Given the description of an element on the screen output the (x, y) to click on. 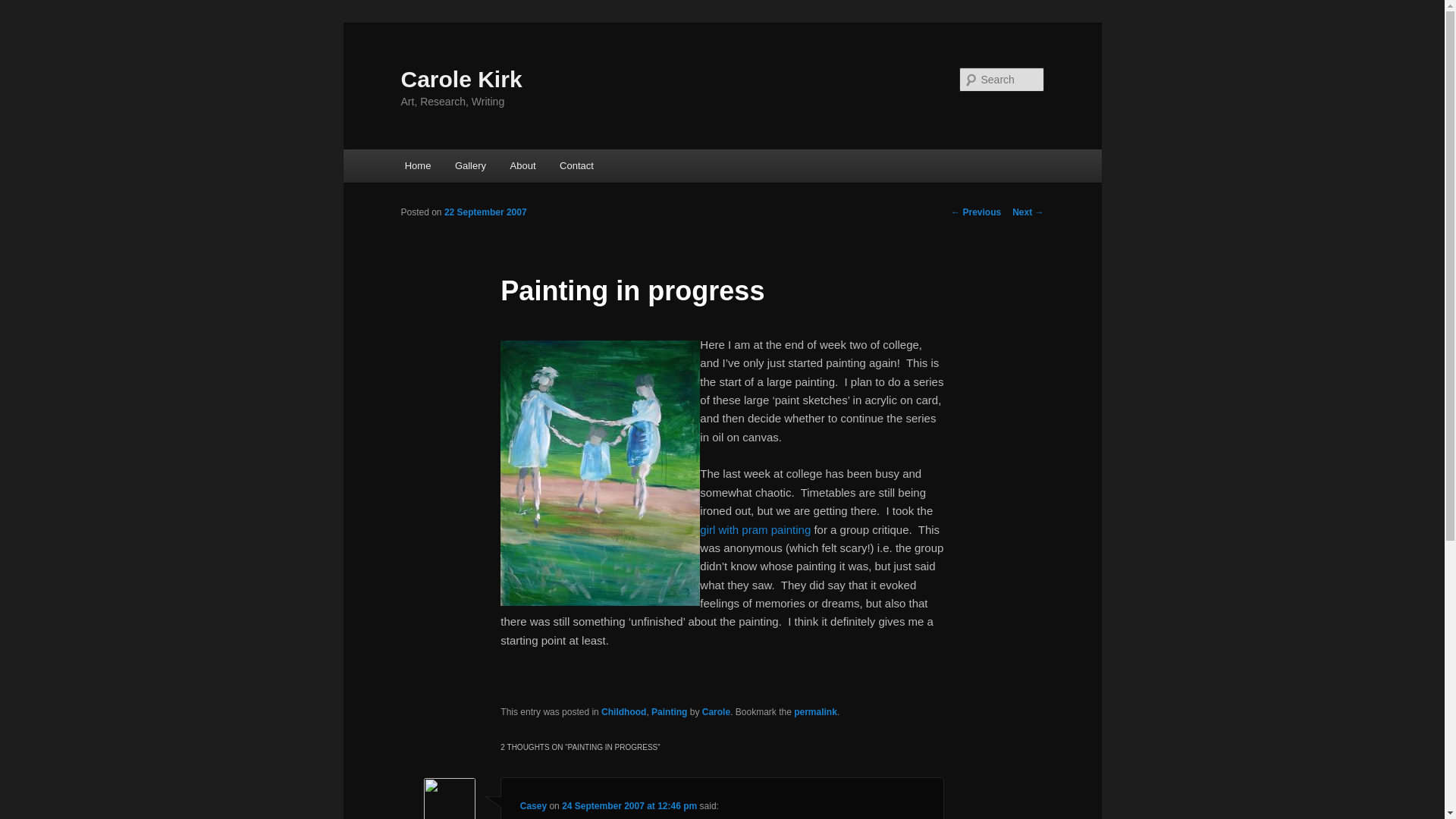
Casey (533, 805)
Search (24, 8)
Childhood (623, 711)
Home (417, 165)
24 September 2007 at 12:46 pm (629, 805)
Carole Kirk (460, 78)
Contact (576, 165)
girl with pram painting (755, 529)
About (522, 165)
permalink (815, 711)
Gallery (469, 165)
5:32 pm (485, 212)
Painting (668, 711)
girl with pram (755, 529)
